Given the description of an element on the screen output the (x, y) to click on. 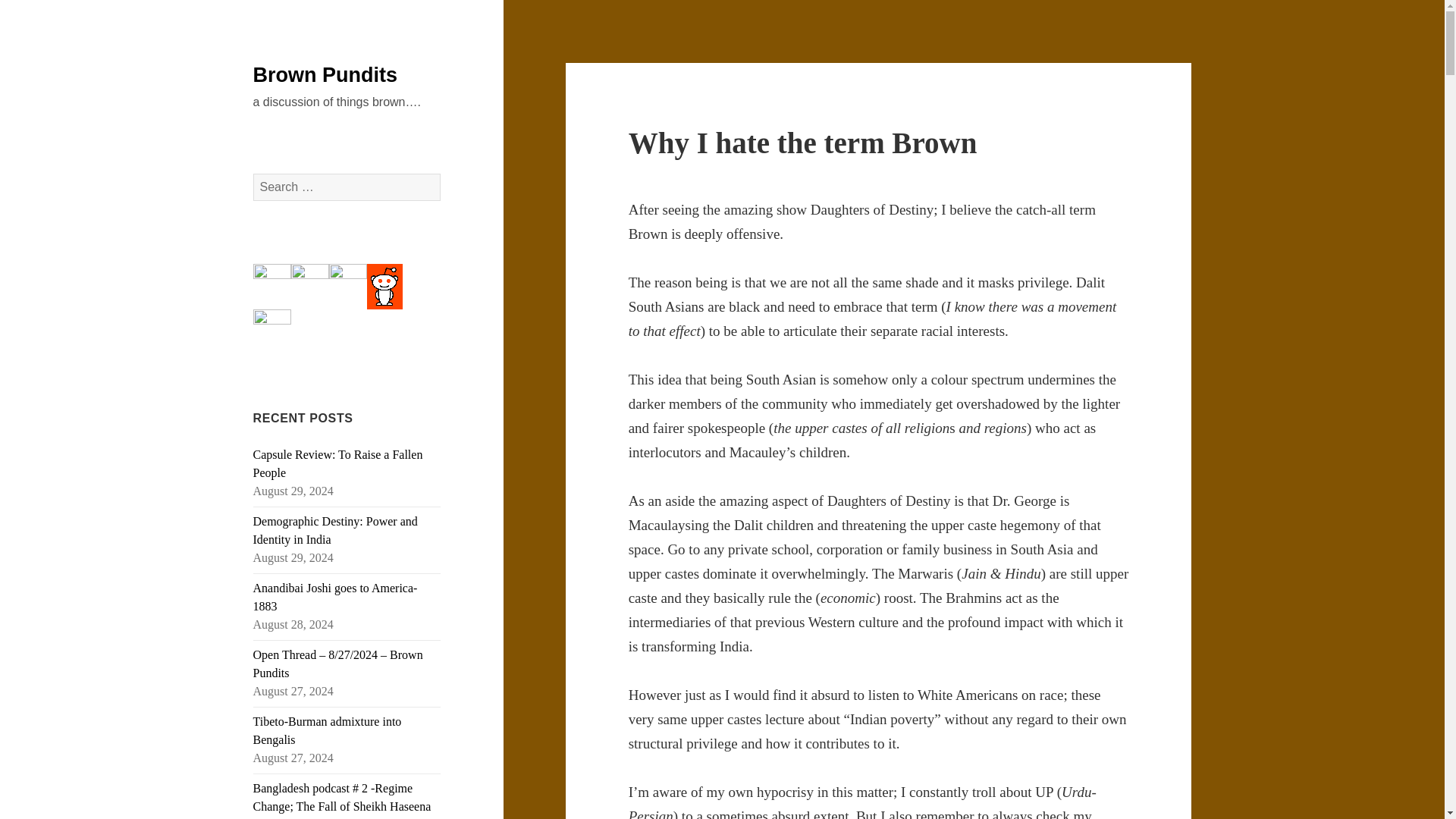
Tibeto-Burman admixture into Bengalis (327, 730)
Brown Pundits (325, 74)
Anandibai Joshi goes to America-1883 (335, 596)
Demographic Destiny: Power and Identity in India (335, 530)
Capsule Review: To Raise a Fallen People (338, 463)
